Given the description of an element on the screen output the (x, y) to click on. 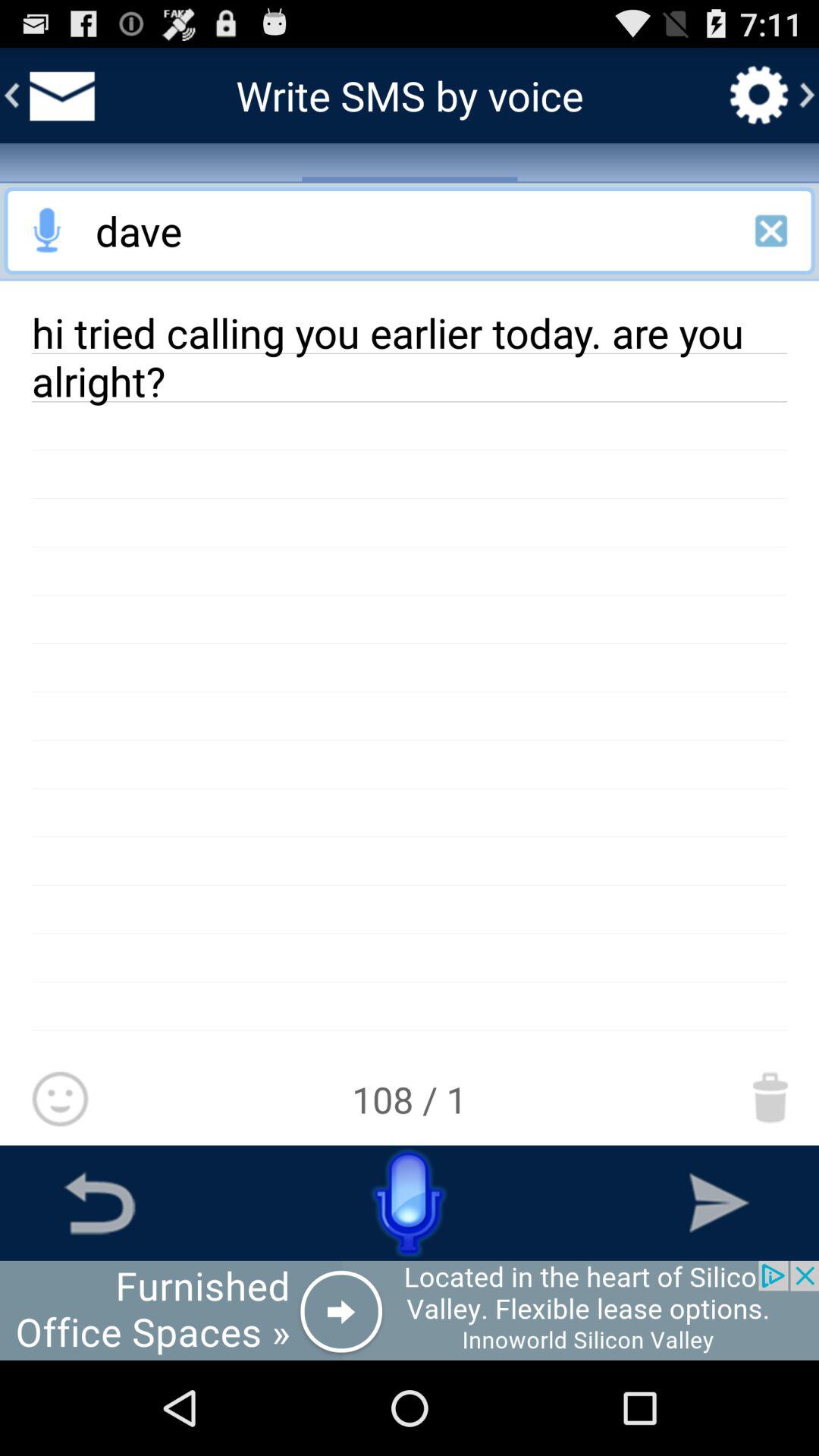
open an advertisement (409, 1310)
